Given the description of an element on the screen output the (x, y) to click on. 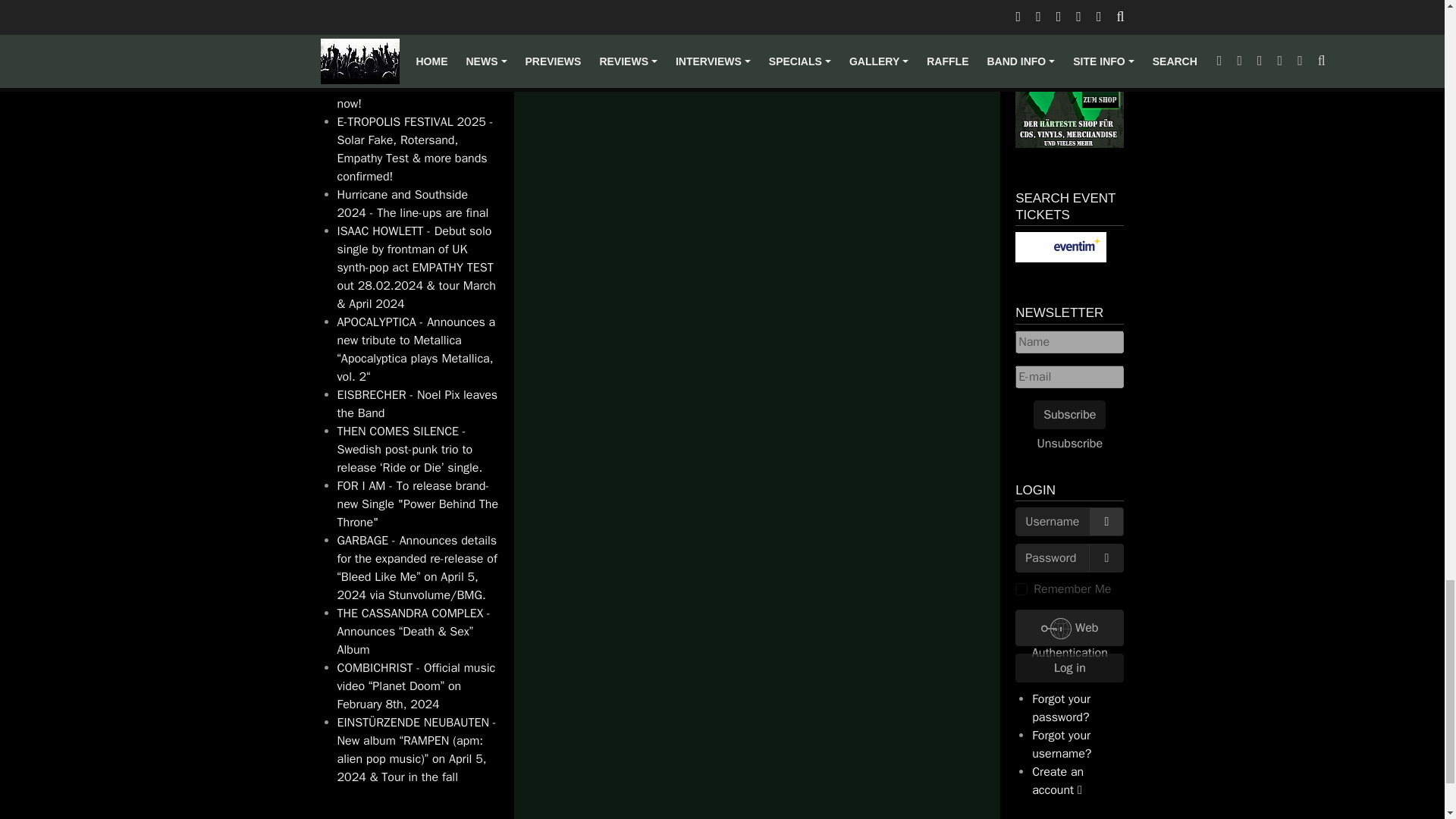
Unsubscribe (1070, 442)
Subscribe (1069, 413)
E-mail (1069, 375)
Name (1069, 341)
yes (1020, 589)
Name (1069, 341)
